Given the description of an element on the screen output the (x, y) to click on. 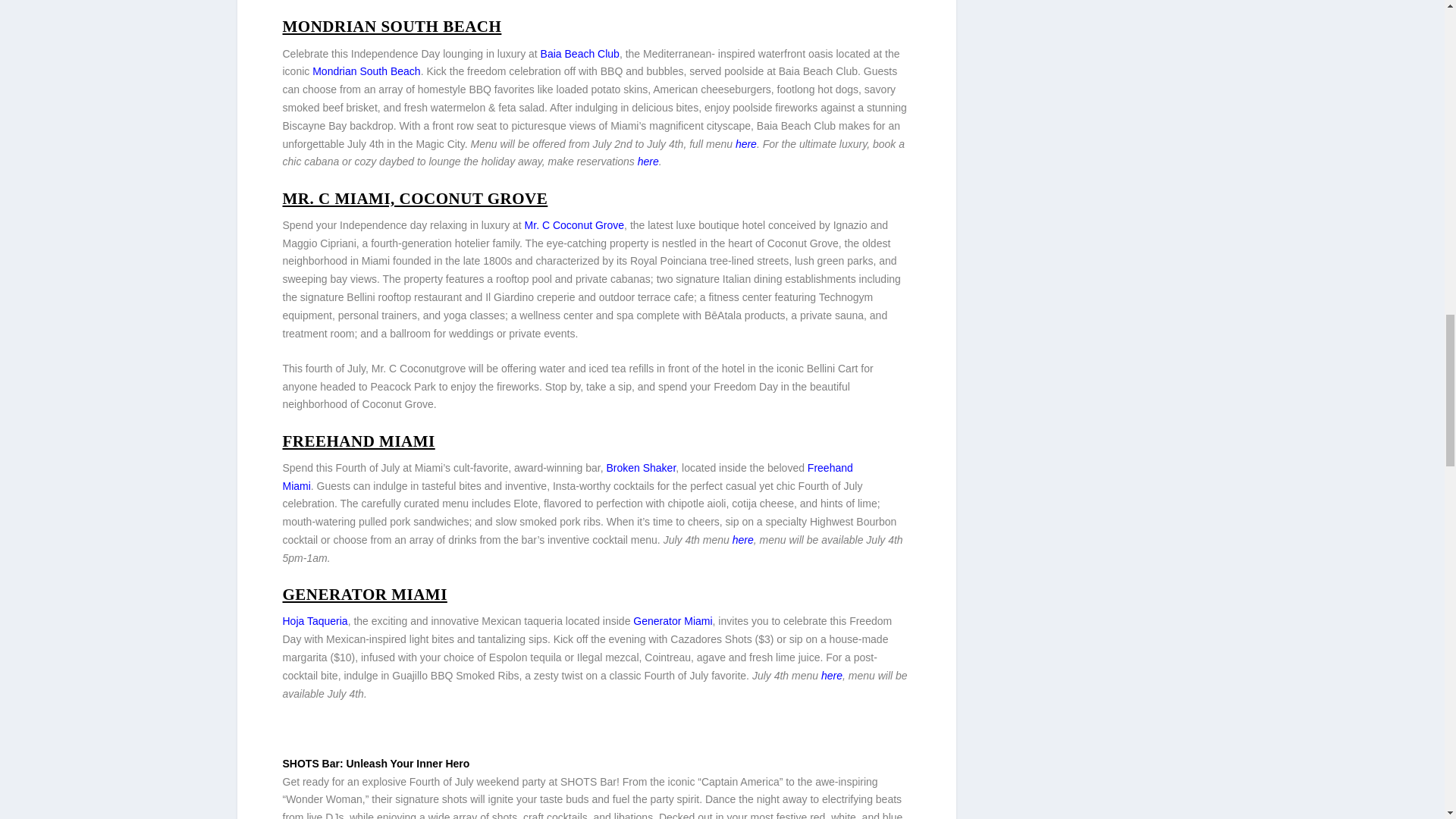
here (743, 539)
here (746, 143)
here (648, 161)
Baia Beach Club (580, 53)
Freehand Miami (566, 476)
Hoja Taqueria (314, 621)
Broken Shaker (640, 467)
 Mr. C Coconut Grove (572, 224)
Mondrian South Beach (366, 70)
Generator Miami (672, 621)
here (832, 675)
